Given the description of an element on the screen output the (x, y) to click on. 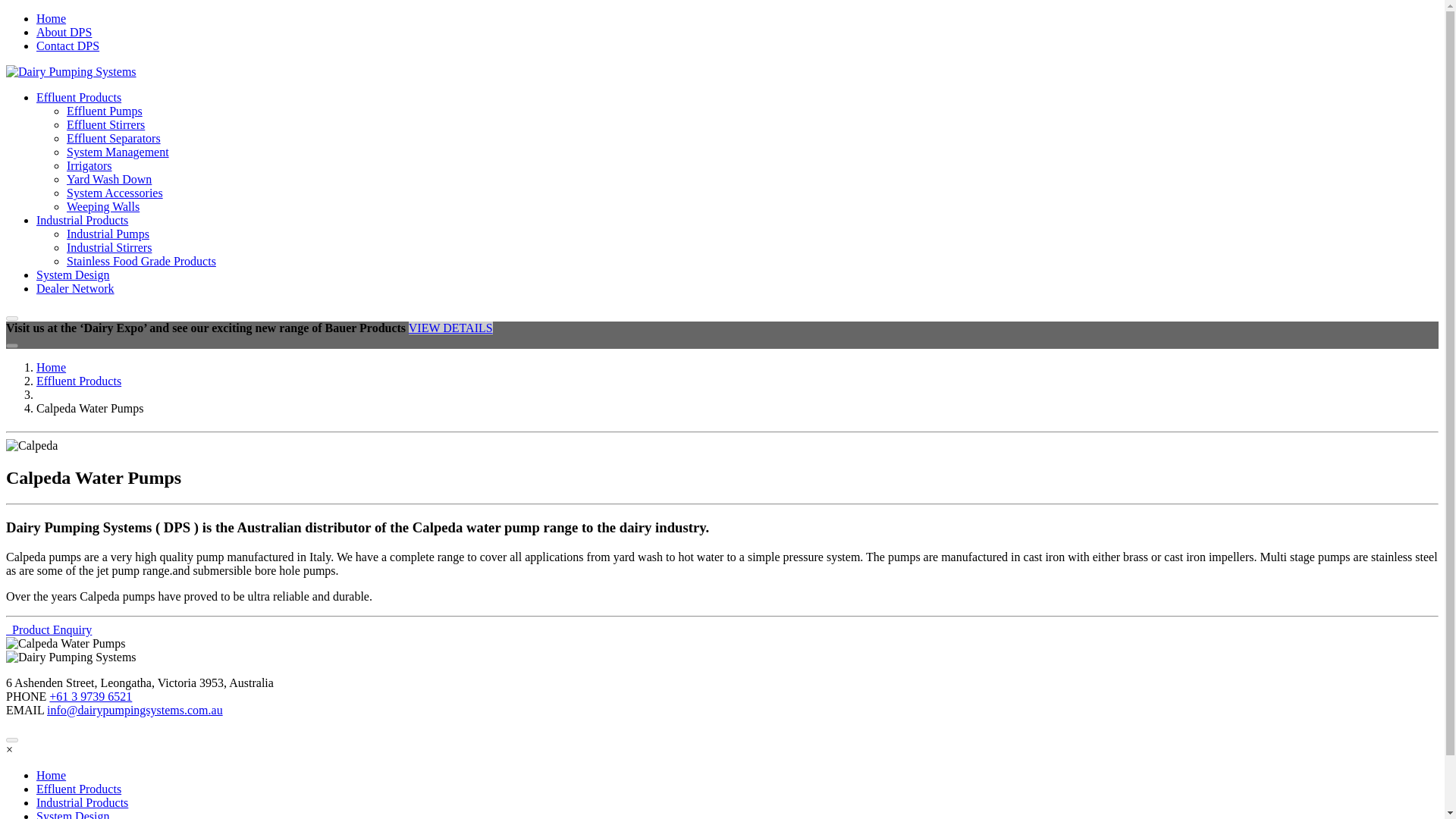
Effluent Separators (113, 137)
  Product Enquiry (48, 629)
Industrial Pumps (107, 233)
System Accessories (114, 192)
System Design (72, 274)
Home (50, 367)
Effluent Products (78, 788)
Home (50, 775)
System Management (117, 151)
Industrial Products (82, 802)
Home (50, 18)
Industrial Products (82, 219)
Dealer Network (75, 287)
About DPS (63, 31)
Effluent Products (78, 97)
